Given the description of an element on the screen output the (x, y) to click on. 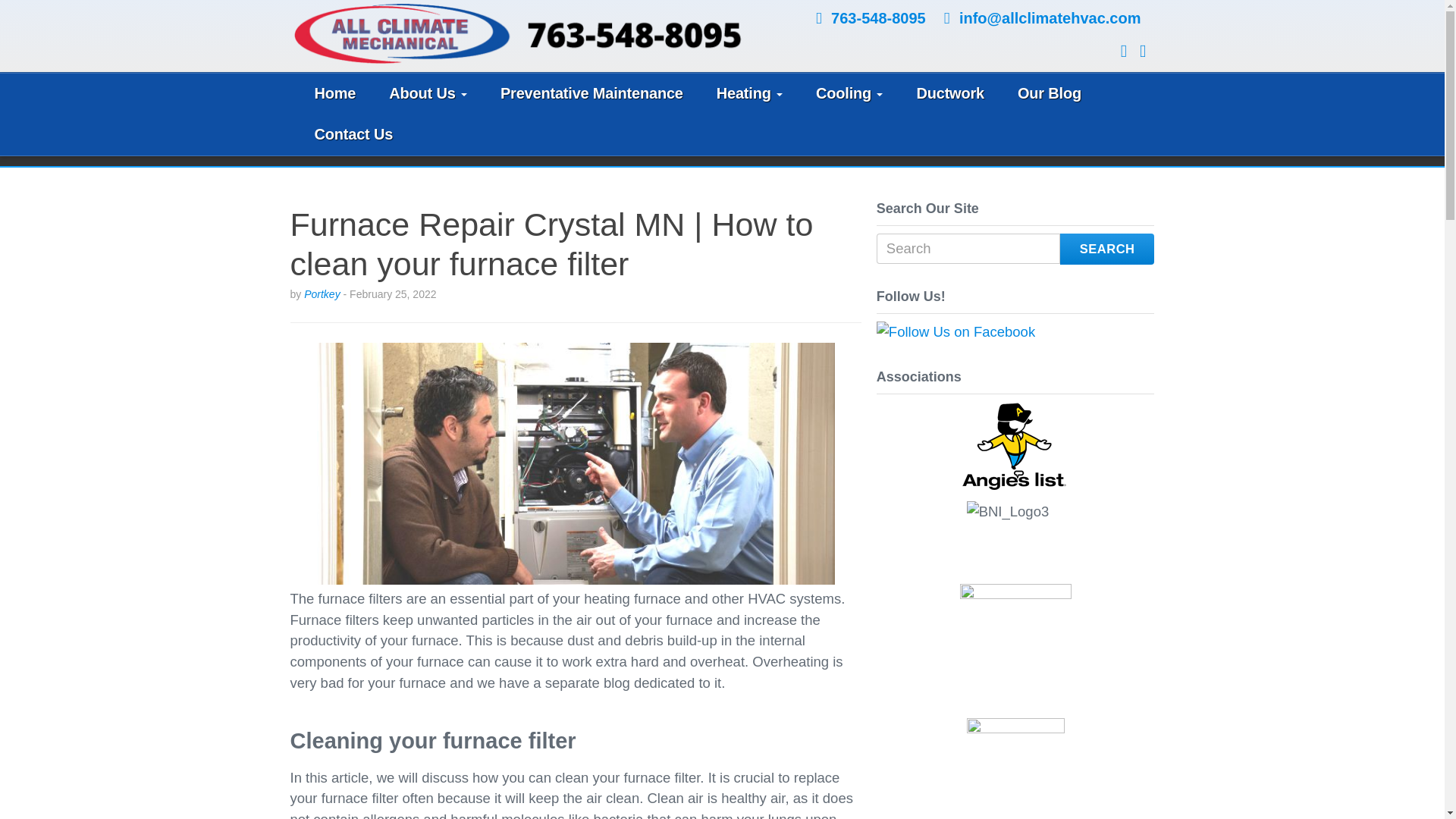
763-548-8095 (878, 17)
About Us (427, 93)
Heating (749, 93)
Preventative Maintenance (591, 93)
Heating (749, 93)
About Us (427, 93)
Home (334, 93)
Home (334, 93)
Preventative Maintenance (591, 93)
